Given the description of an element on the screen output the (x, y) to click on. 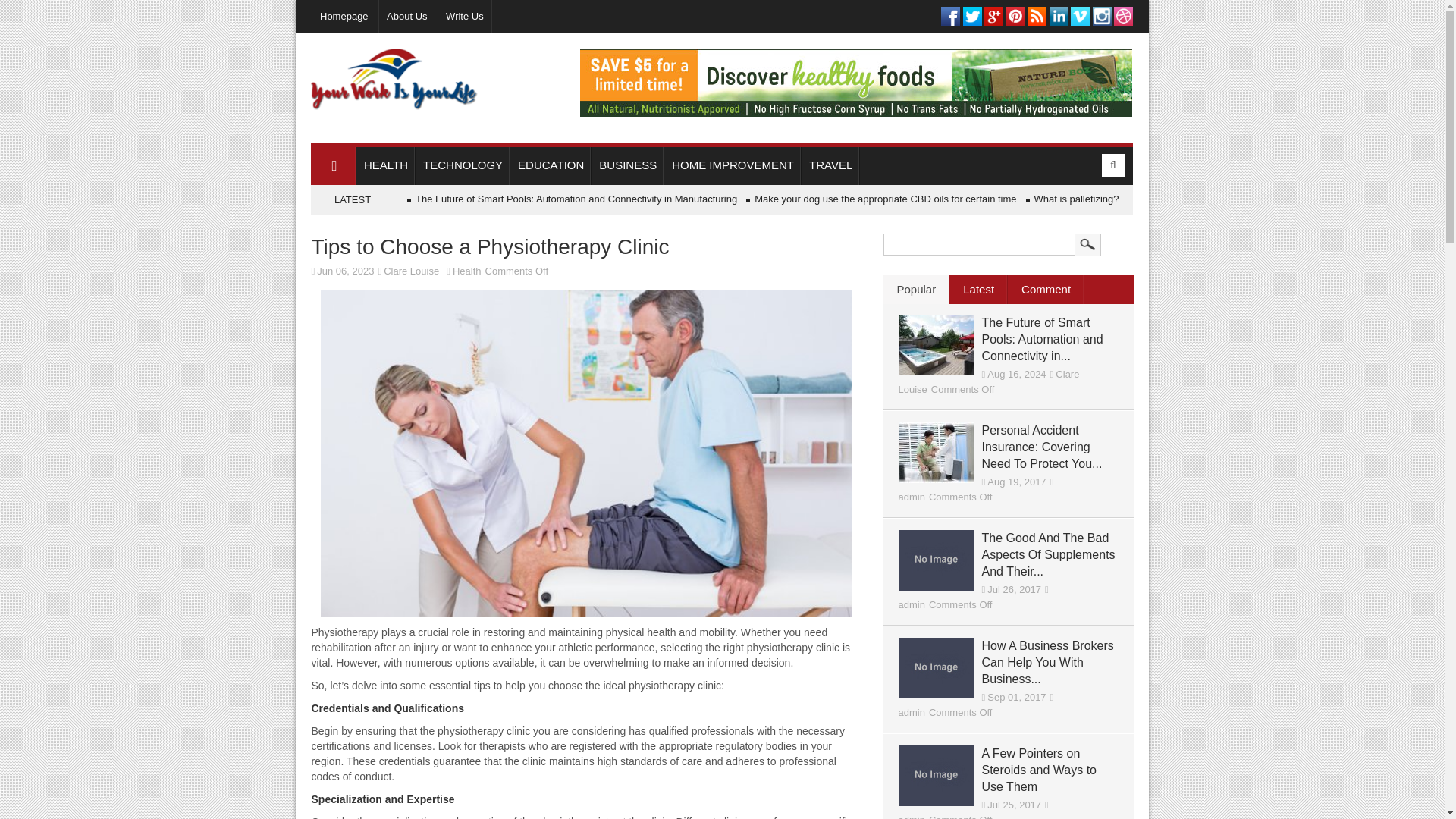
TRAVEL (831, 166)
Search (1087, 243)
BUSINESS (627, 166)
TECHNOLOGY (462, 166)
Homepage (343, 16)
Posts by Clare Louise (411, 270)
Posts by Clare Louise (988, 381)
About Us (405, 16)
Make your dog use the appropriate CBD oils for certain time (885, 198)
